Given the description of an element on the screen output the (x, y) to click on. 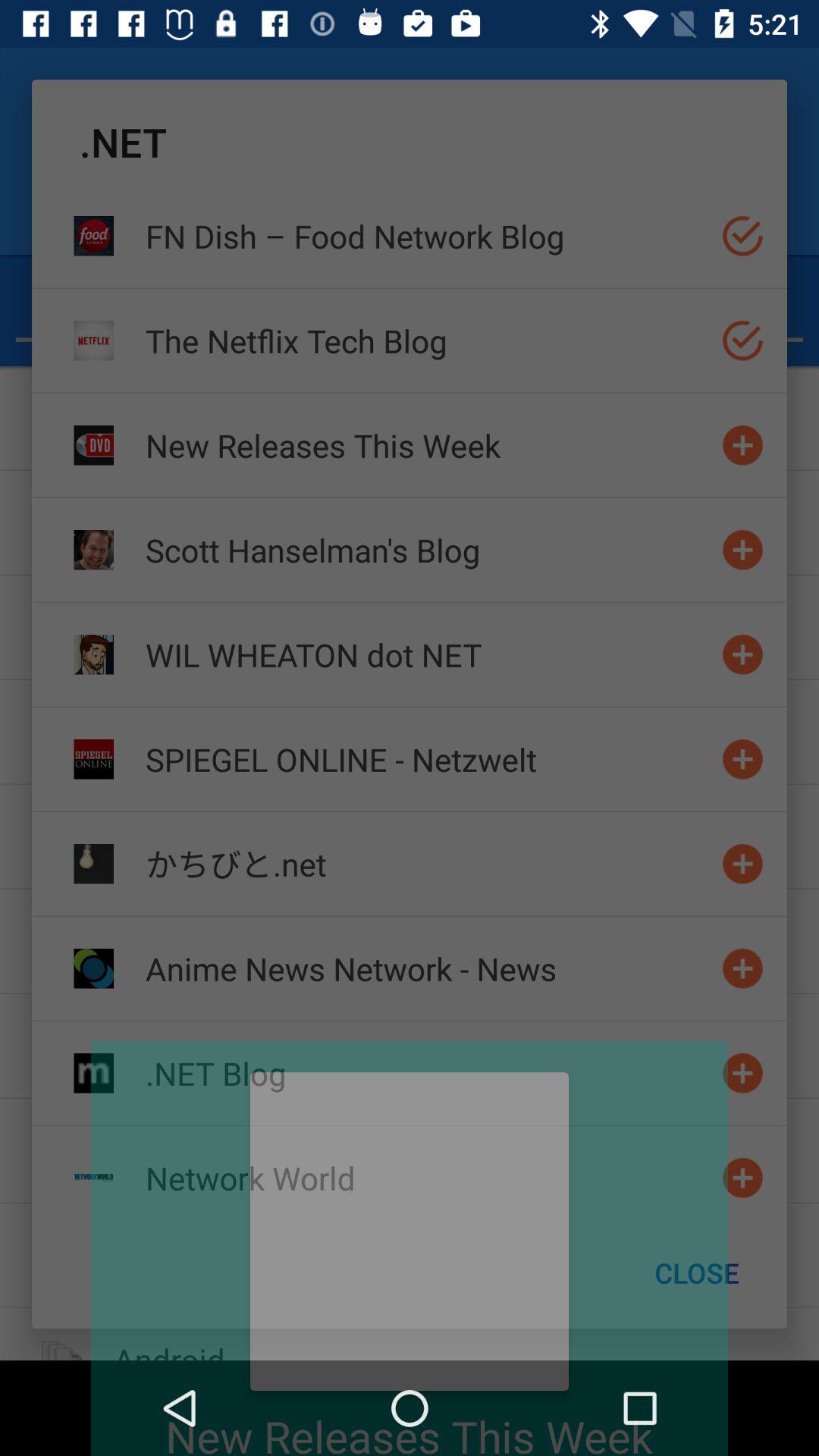
go to add (742, 863)
